Given the description of an element on the screen output the (x, y) to click on. 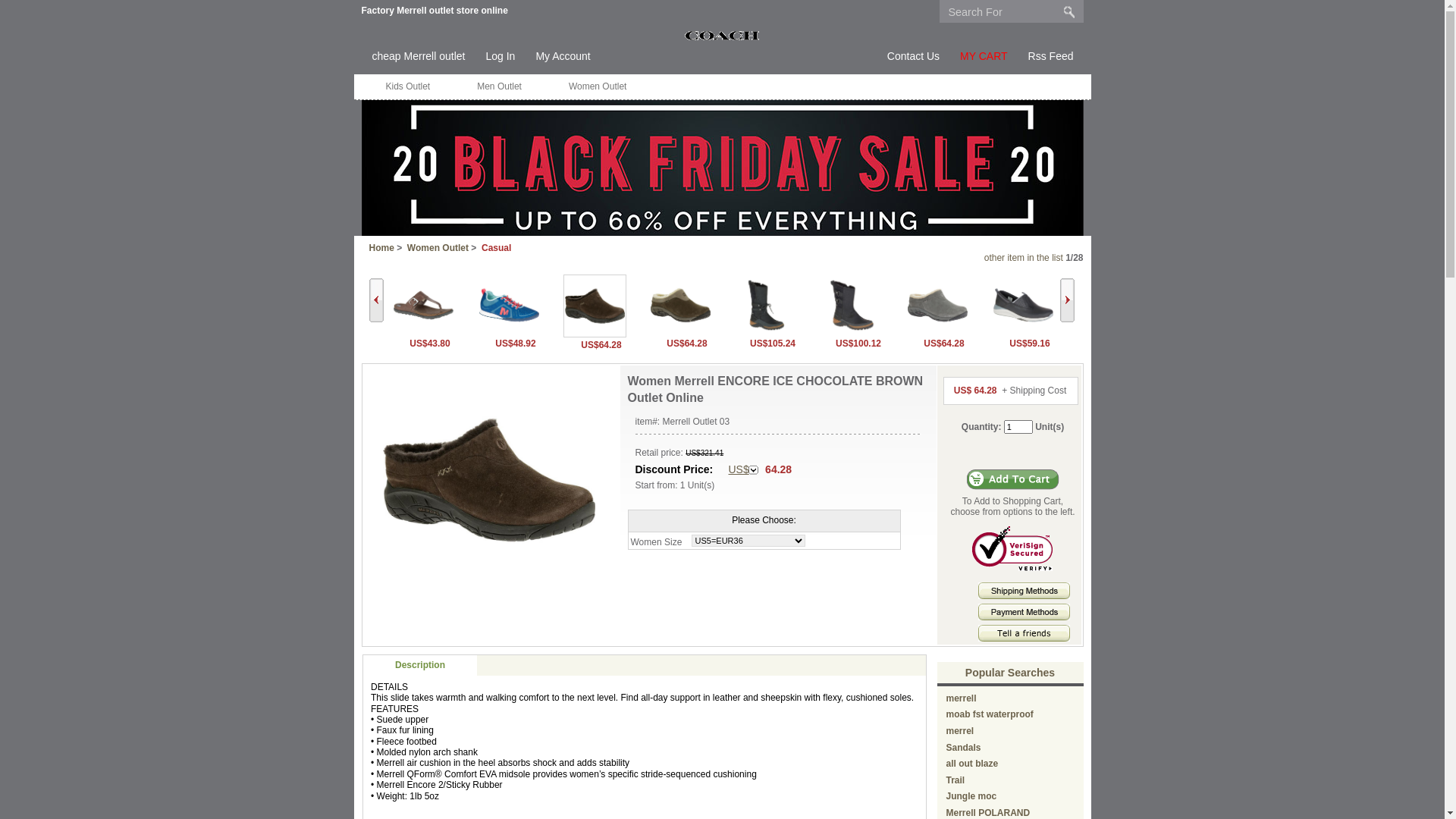
GO Element type: text (1068, 10)
Kids Outlet Element type: text (407, 86)
Contact Us Element type: text (913, 56)
moab fst waterproof Element type: text (989, 714)
 Women Merrell ENCORE ICE CHOCOLATE BROWN Outlet Online  Element type: hover (593, 305)
Men Outlet Element type: text (499, 86)
Popular Searches Element type: text (1009, 672)
Sandals Element type: text (963, 747)
 Women Merrell ENCORE ICE MERRELL STONE Outlet Online  Element type: hover (679, 304)
Rss Feed Element type: text (1050, 56)
 Women Merrell CIVET LACE MYKONOS BLUE Outlet Online  Element type: hover (508, 304)
Women Outlet Element type: text (437, 247)
 Tell A Friends  Element type: hover (1024, 632)
black friday coach Element type: hover (721, 232)
 Women Merrell ENCORE ICE CASTLE ROCK Outlet Online  Element type: hover (937, 304)
cheap Merrell outlet Element type: text (417, 56)
 Merrell outlet  Element type: hover (721, 34)
merrel Element type: text (960, 730)
 Women Merrell SYLVA TALL WATERPROOF BLACK Outlet Online  Element type: hover (766, 304)
 Shipping Methods  Element type: hover (1024, 590)
 Payment Methods  Element type: hover (1024, 611)
My Account Element type: text (562, 56)
 Women Merrell APPLAUD MOC BLACK Outlet Online  Element type: hover (1022, 304)
Jungle moc Element type: text (971, 795)
Casual Element type: text (496, 247)
merrell Element type: text (961, 698)
Next Element type: hover (1067, 300)
Merrell POLARAND Element type: text (988, 812)
Back Element type: hover (375, 300)
Payment methods Element type: hover (1024, 616)
Women Outlet Element type: text (597, 86)
MY CART Element type: text (983, 56)
Trail Element type: text (955, 780)
Log In Element type: text (499, 56)
Home Element type: text (380, 247)
Add to Cart Element type: hover (1012, 479)
Shipping Methods Element type: hover (1024, 595)
 Women Merrell AROUND TOWN POST  BROWN Outlet Online  Element type: hover (423, 304)
 Women Merrell ENCORE ICE CHOCOLATE BROWN Outlet Online  Element type: hover (489, 479)
all out blaze Element type: text (972, 763)
US$ Element type: text (742, 469)
other item in the list Element type: text (1023, 257)
